Given the description of an element on the screen output the (x, y) to click on. 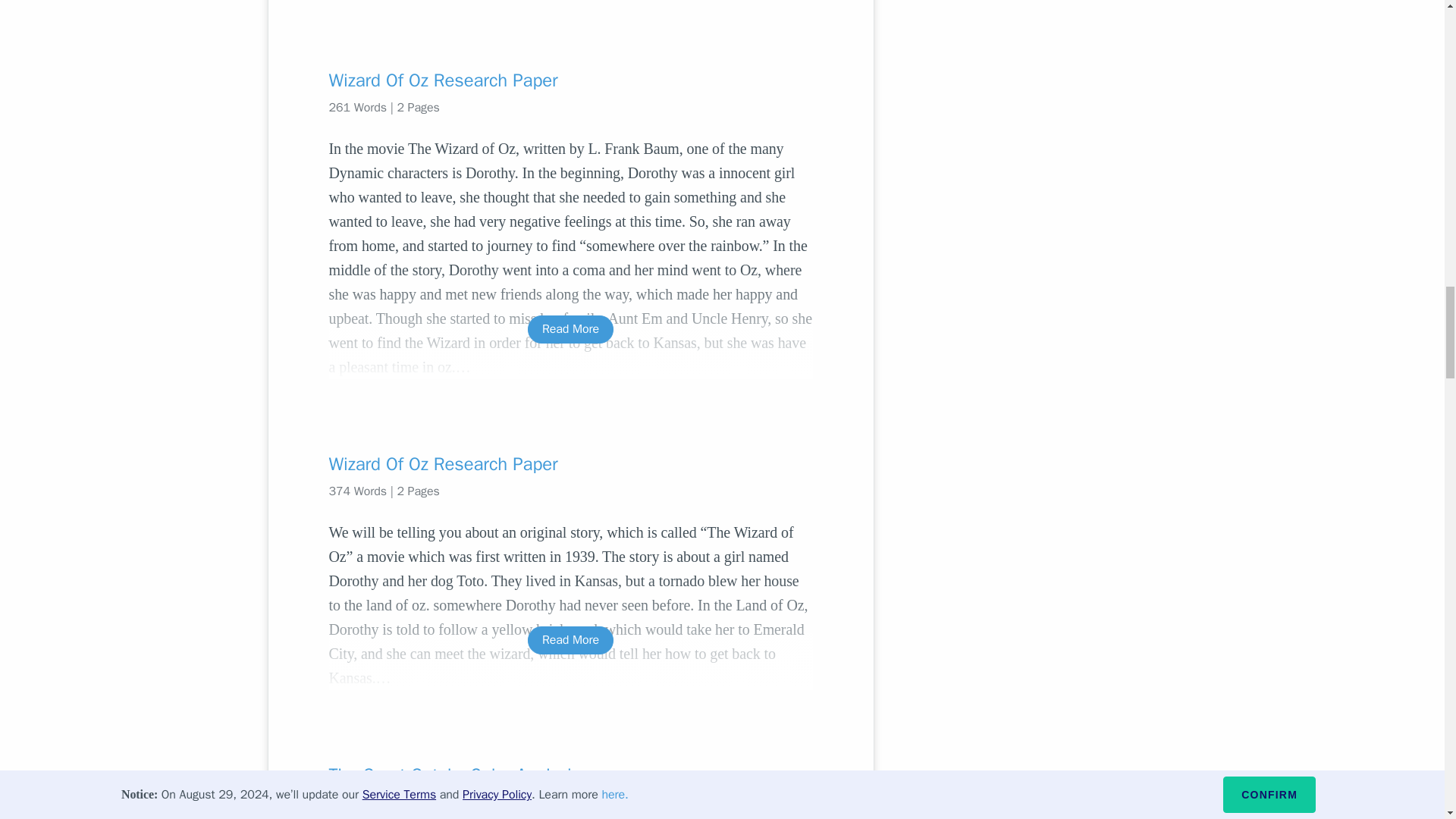
Read More (569, 640)
Wizard Of Oz Research Paper (570, 79)
Read More (569, 329)
Wizard Of Oz Research Paper (570, 463)
The Great Gatsby Color Analysis (570, 774)
